Given the description of an element on the screen output the (x, y) to click on. 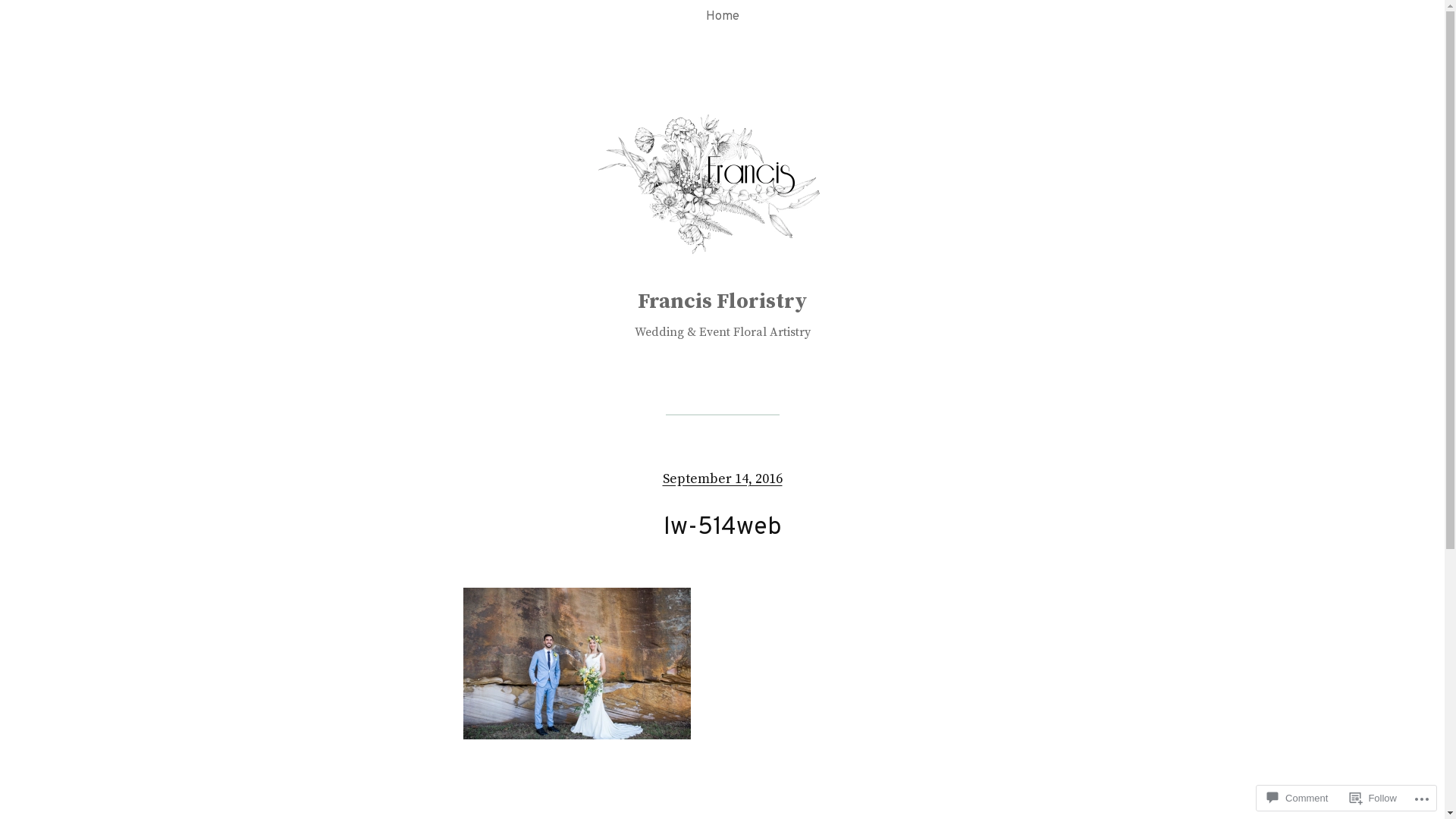
Comment Element type: text (1297, 797)
Home Element type: text (721, 17)
Francis Floristry Element type: text (721, 301)
September 14, 2016 Element type: text (722, 478)
Follow Element type: text (1372, 797)
